Given the description of an element on the screen output the (x, y) to click on. 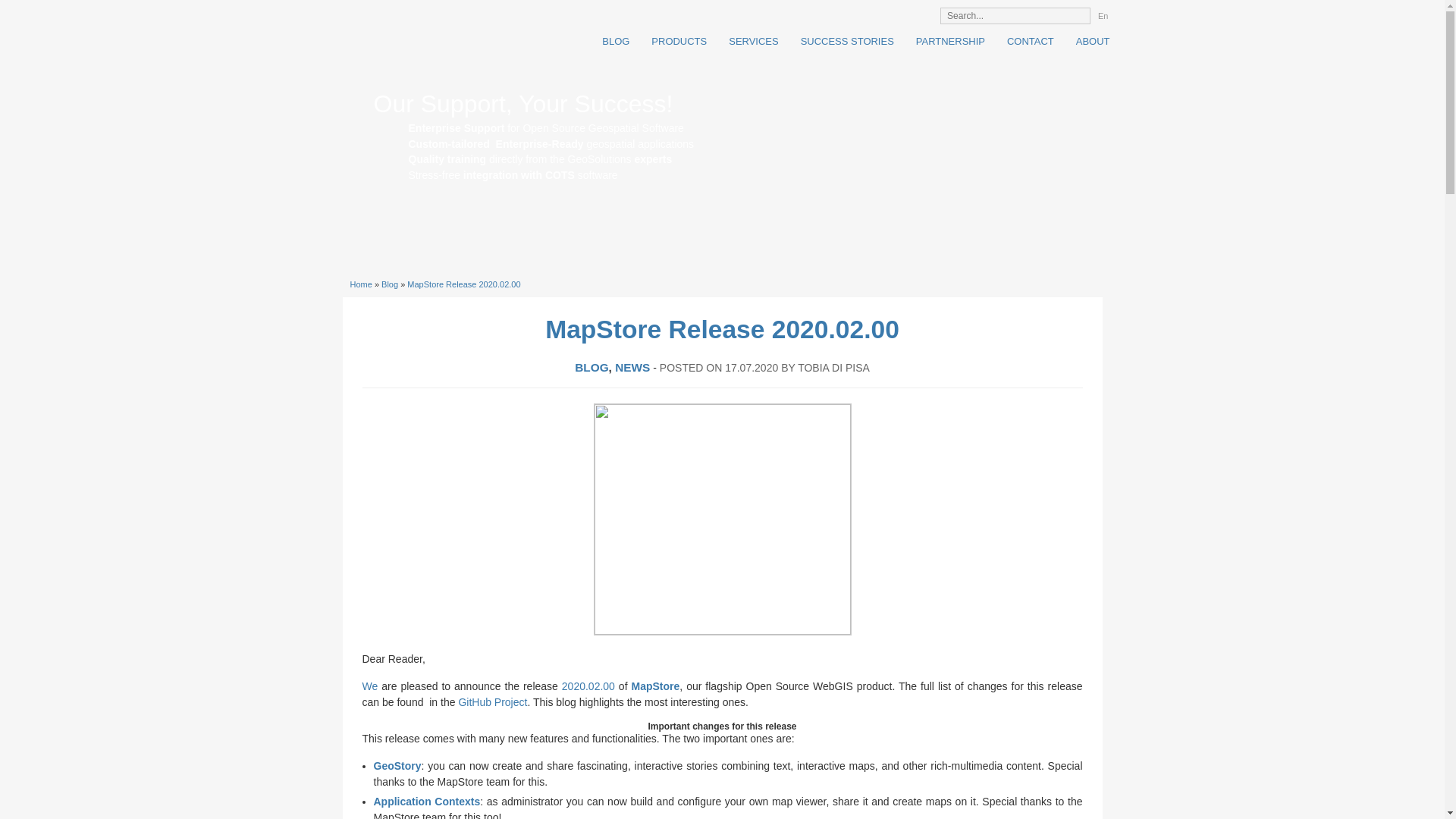
CONTACT (1024, 41)
NEWS (631, 367)
RSS (873, 14)
BLOG (591, 367)
ABOUT (1087, 41)
We (370, 686)
MapStore Release 2020.02.00 (463, 284)
2020.02.00 (588, 686)
BLOG (609, 41)
Go to the Blog Category archives. (389, 284)
Twitter (895, 14)
Blog (389, 284)
SERVICES (747, 41)
GitHub Project (492, 702)
Vai ai Contenuti della pagina (391, 4)
